Given the description of an element on the screen output the (x, y) to click on. 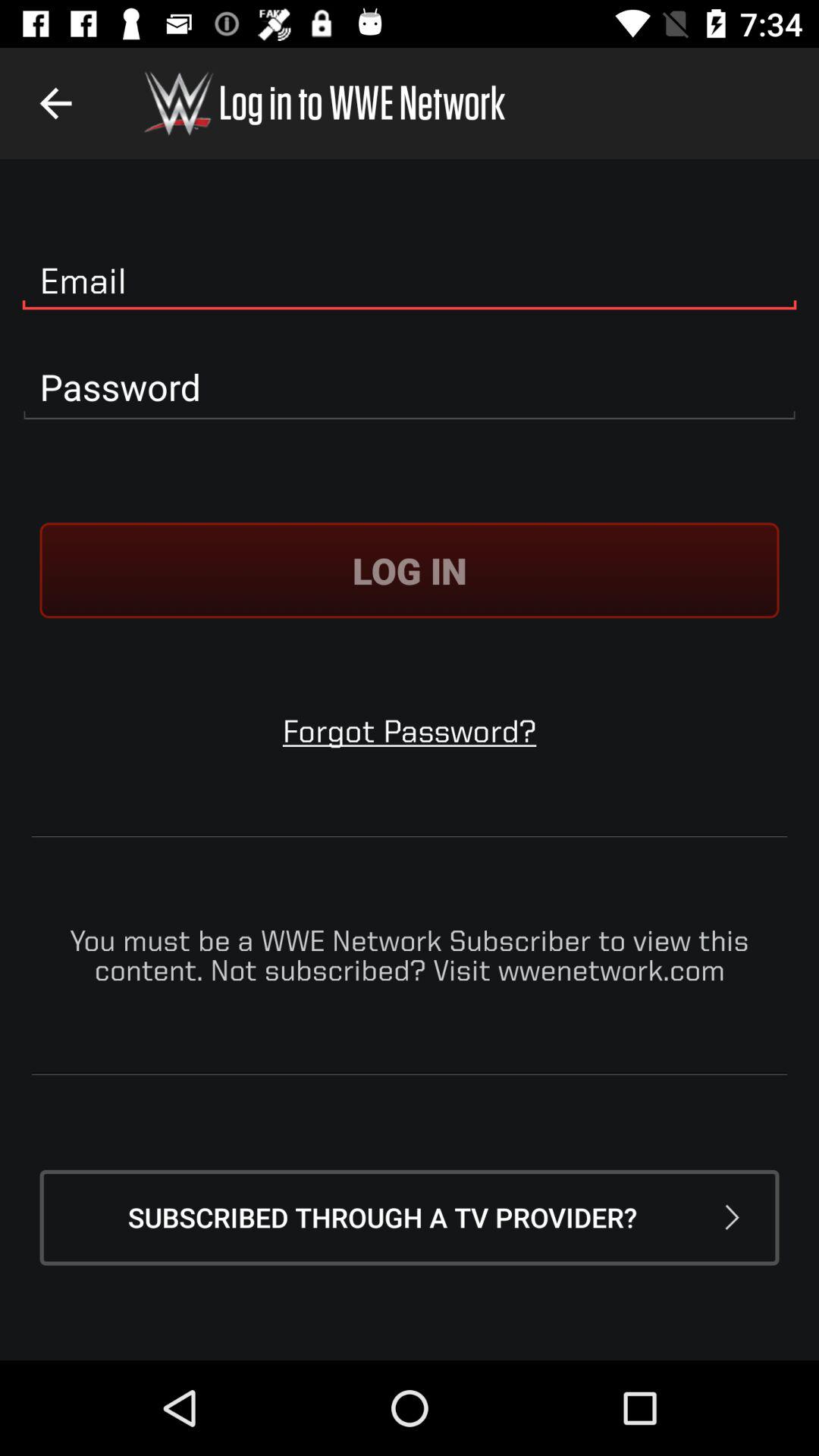
blank for writting password (409, 387)
